Given the description of an element on the screen output the (x, y) to click on. 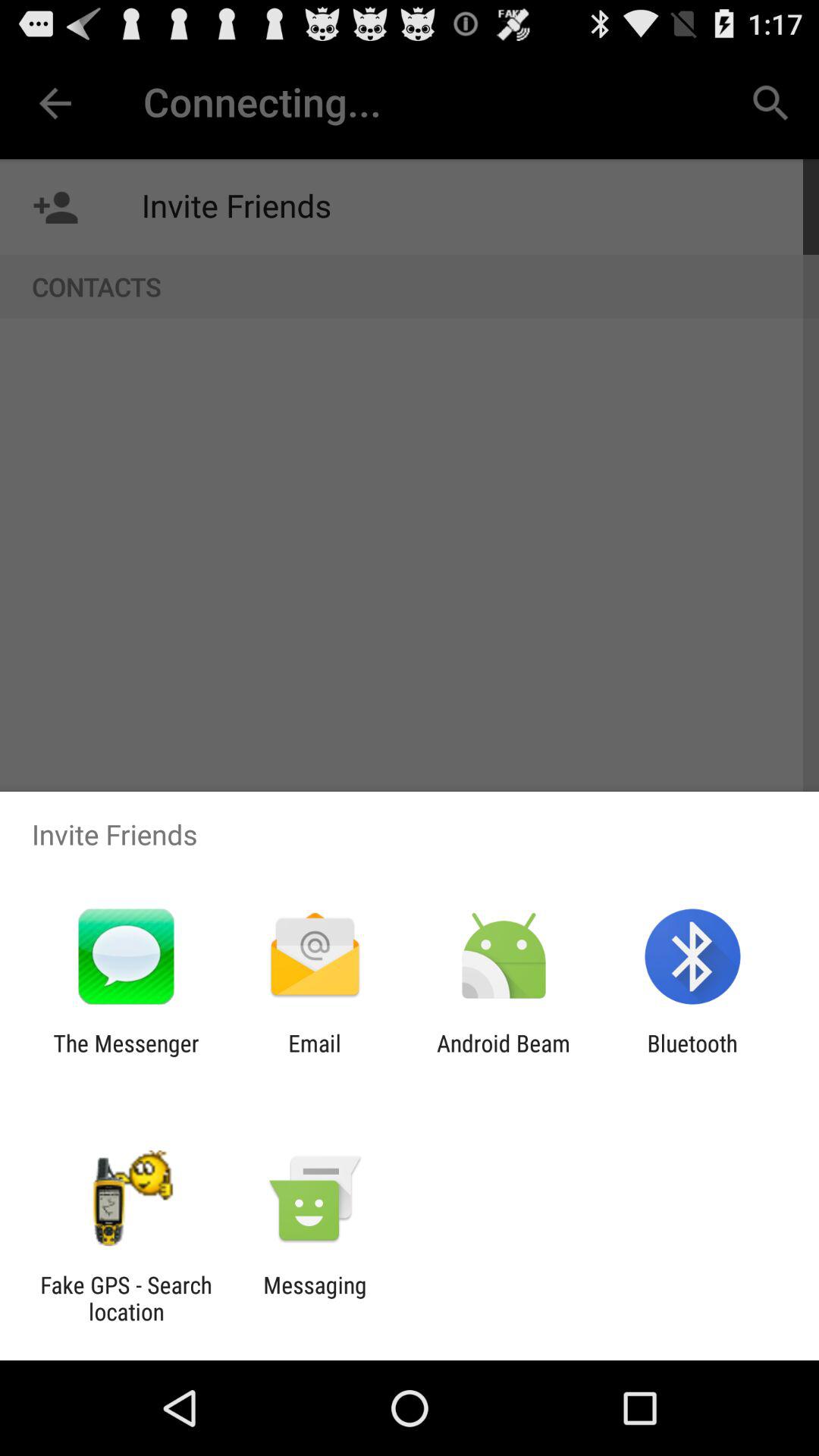
launch item to the left of the bluetooth item (503, 1056)
